Given the description of an element on the screen output the (x, y) to click on. 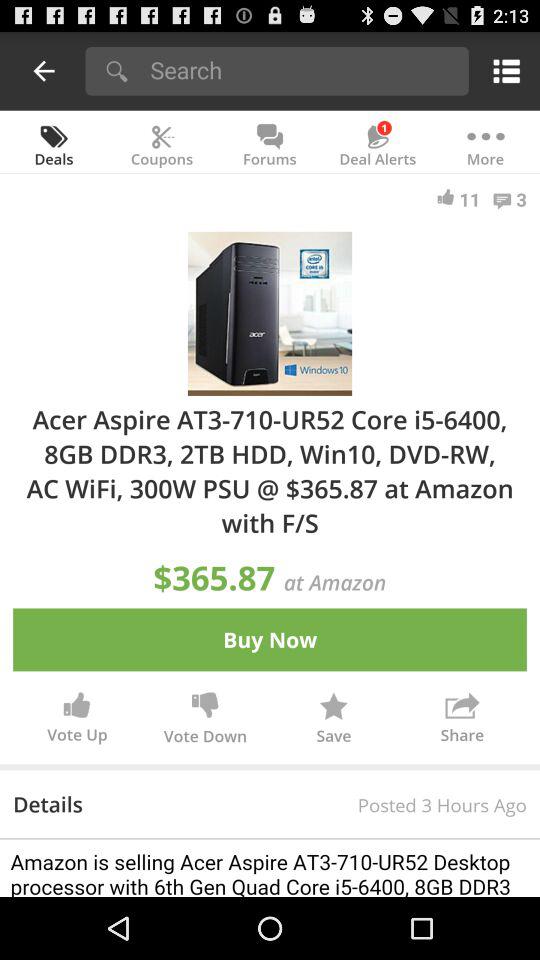
go back to the last page (44, 70)
